Given the description of an element on the screen output the (x, y) to click on. 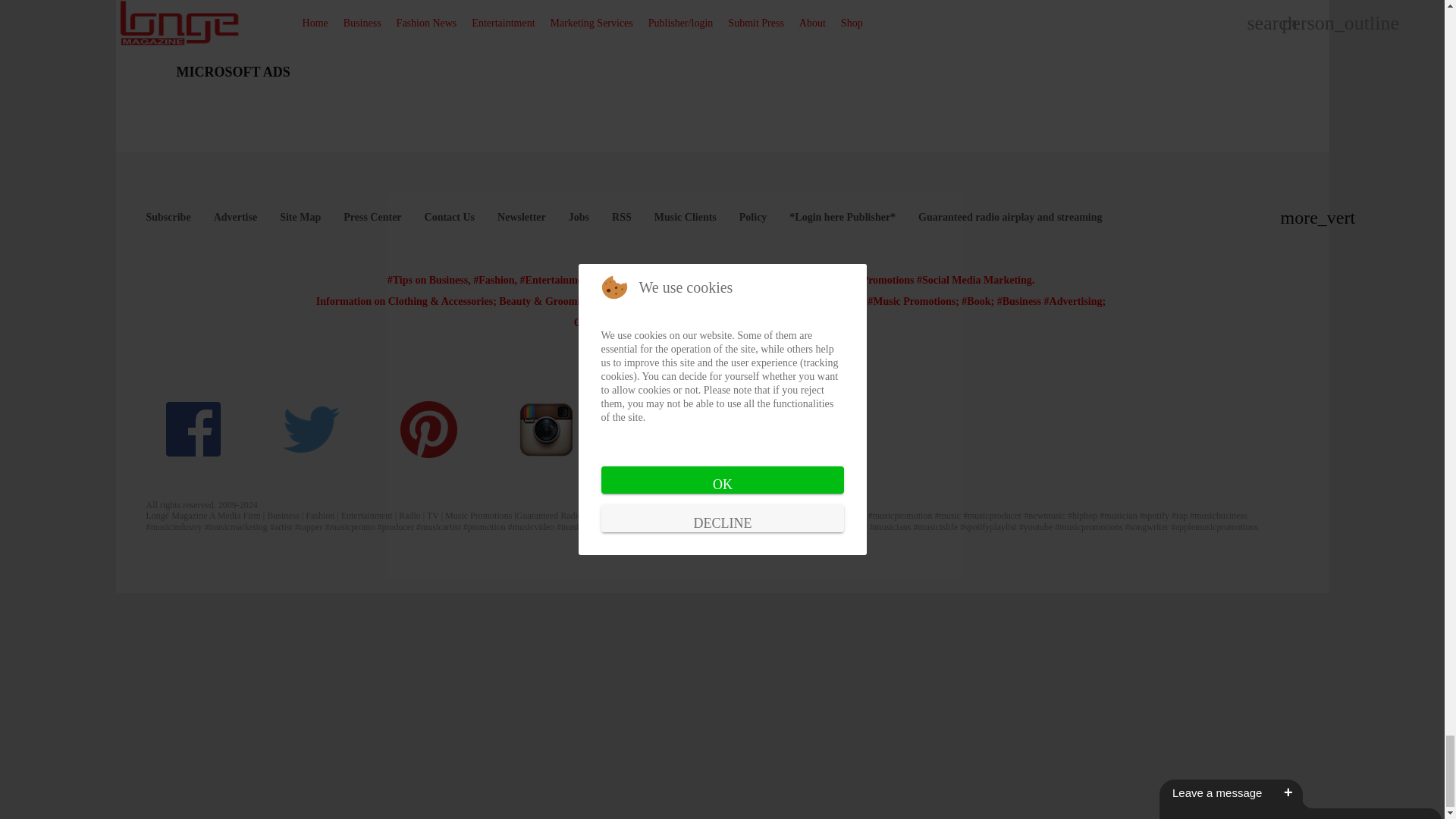
Facebook (193, 429)
